Given the description of an element on the screen output the (x, y) to click on. 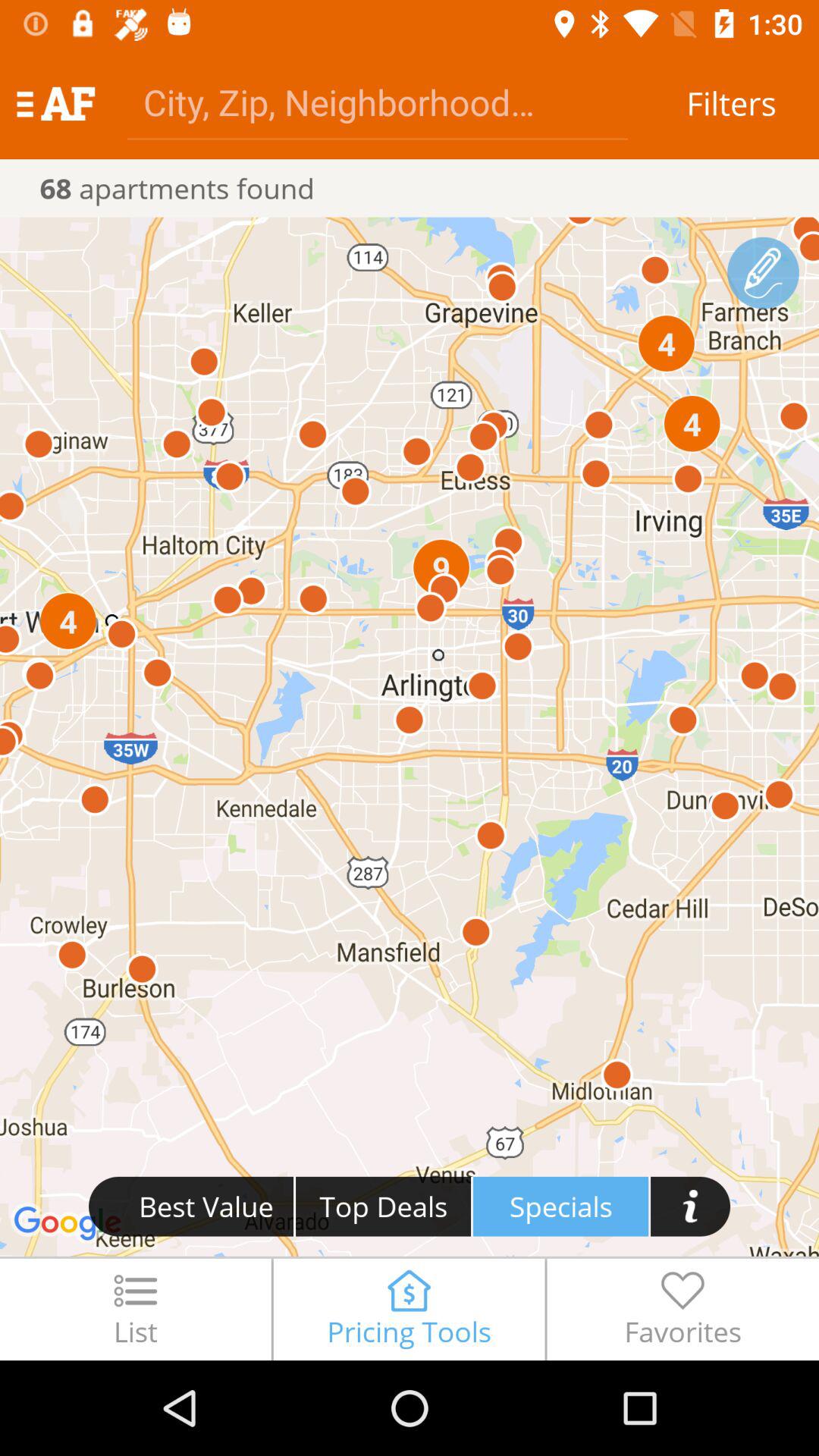
tap the item next to list (408, 1309)
